Given the description of an element on the screen output the (x, y) to click on. 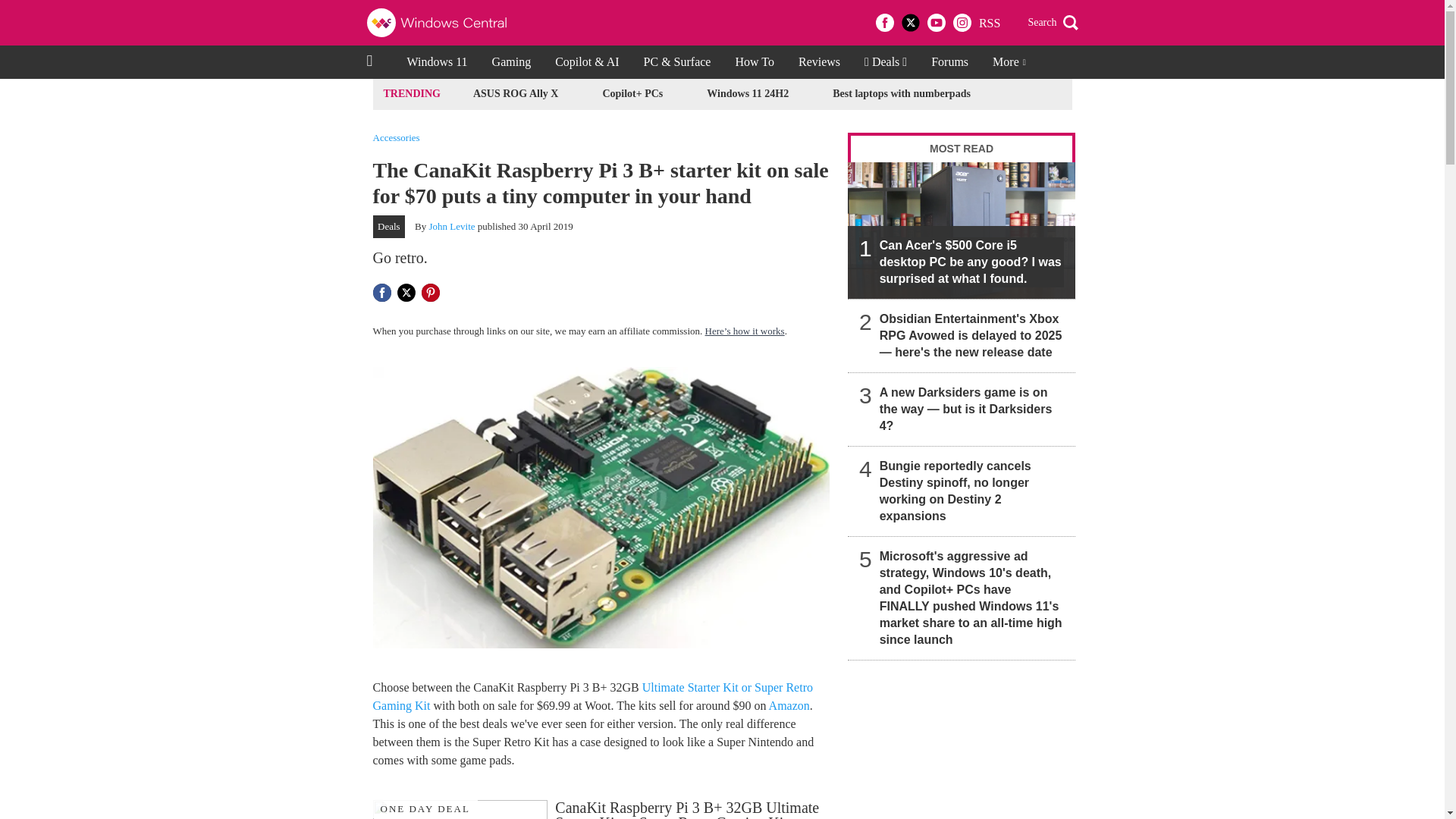
RSS (989, 22)
Accessories (396, 137)
Forums (948, 61)
ASUS ROG Ally X (515, 93)
Best laptops with numberpads (901, 93)
Reviews (818, 61)
How To (754, 61)
John Levite (452, 225)
Deals (389, 226)
Windows 11 24H2 (747, 93)
Gaming (511, 61)
Windows 11 (436, 61)
Ultimate Starter Kit or Super Retro Gaming Kit (592, 695)
Amazon (788, 705)
